Given the description of an element on the screen output the (x, y) to click on. 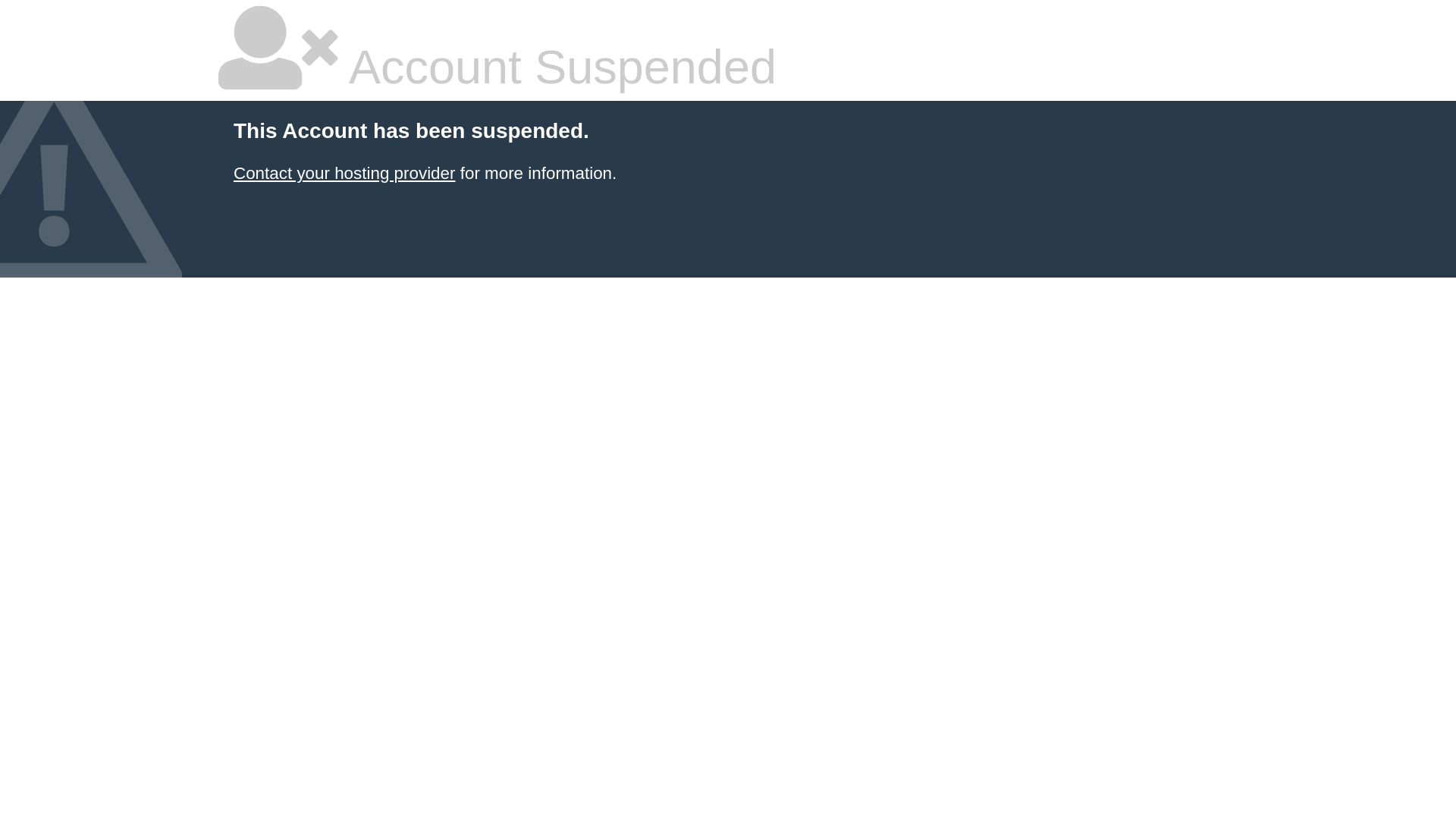
Contact your hosting provider Element type: text (344, 172)
